Given the description of an element on the screen output the (x, y) to click on. 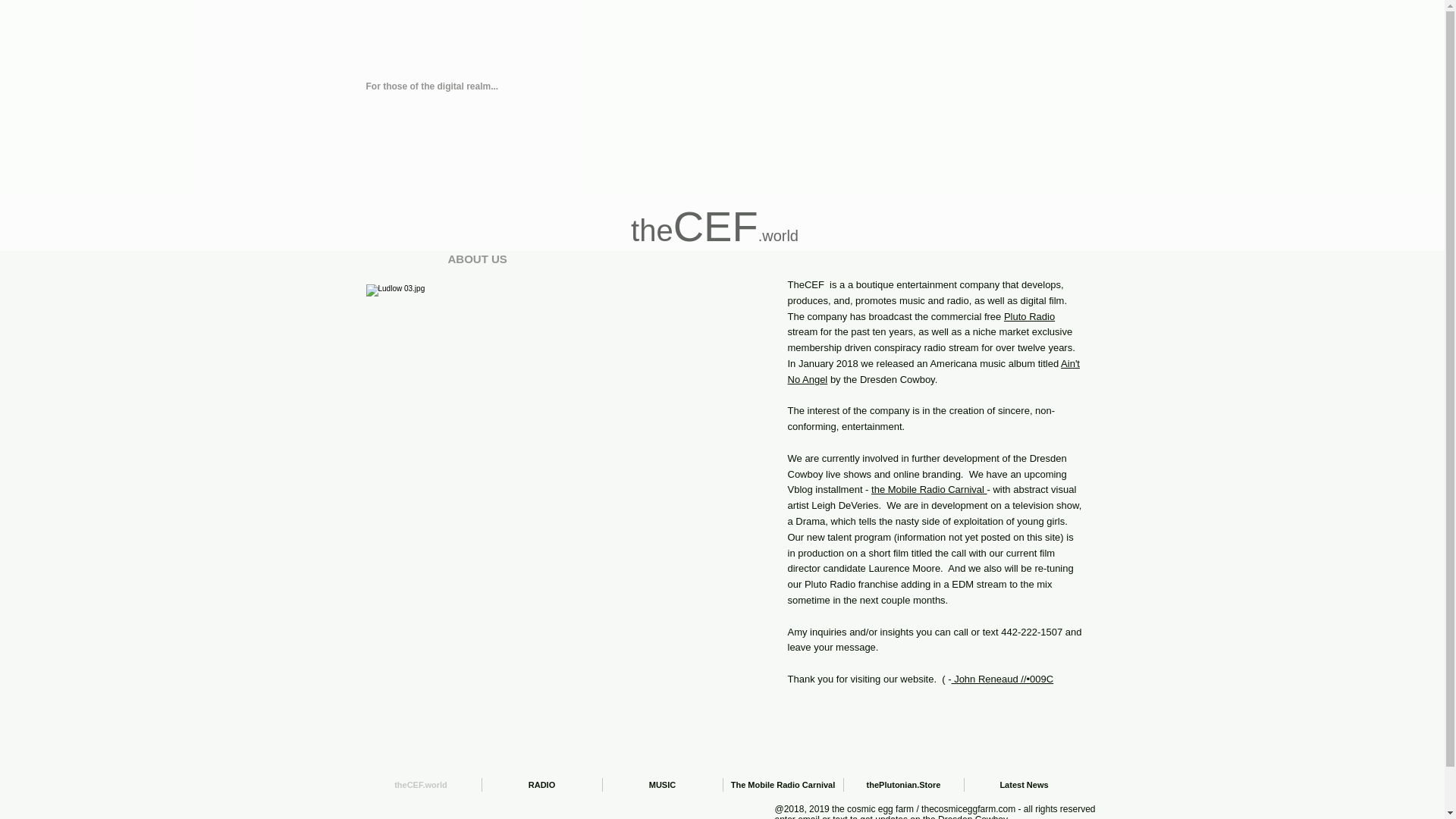
Ain't No Angel (932, 370)
RADIO (541, 784)
Latest News (1023, 784)
the Mobile Radio Carnival (928, 489)
MUSIC (662, 784)
Pluto Radio (1029, 316)
thePlutonian.Store (902, 784)
theCEF.world (421, 784)
The Mobile Radio Carnival (783, 784)
